Given the description of an element on the screen output the (x, y) to click on. 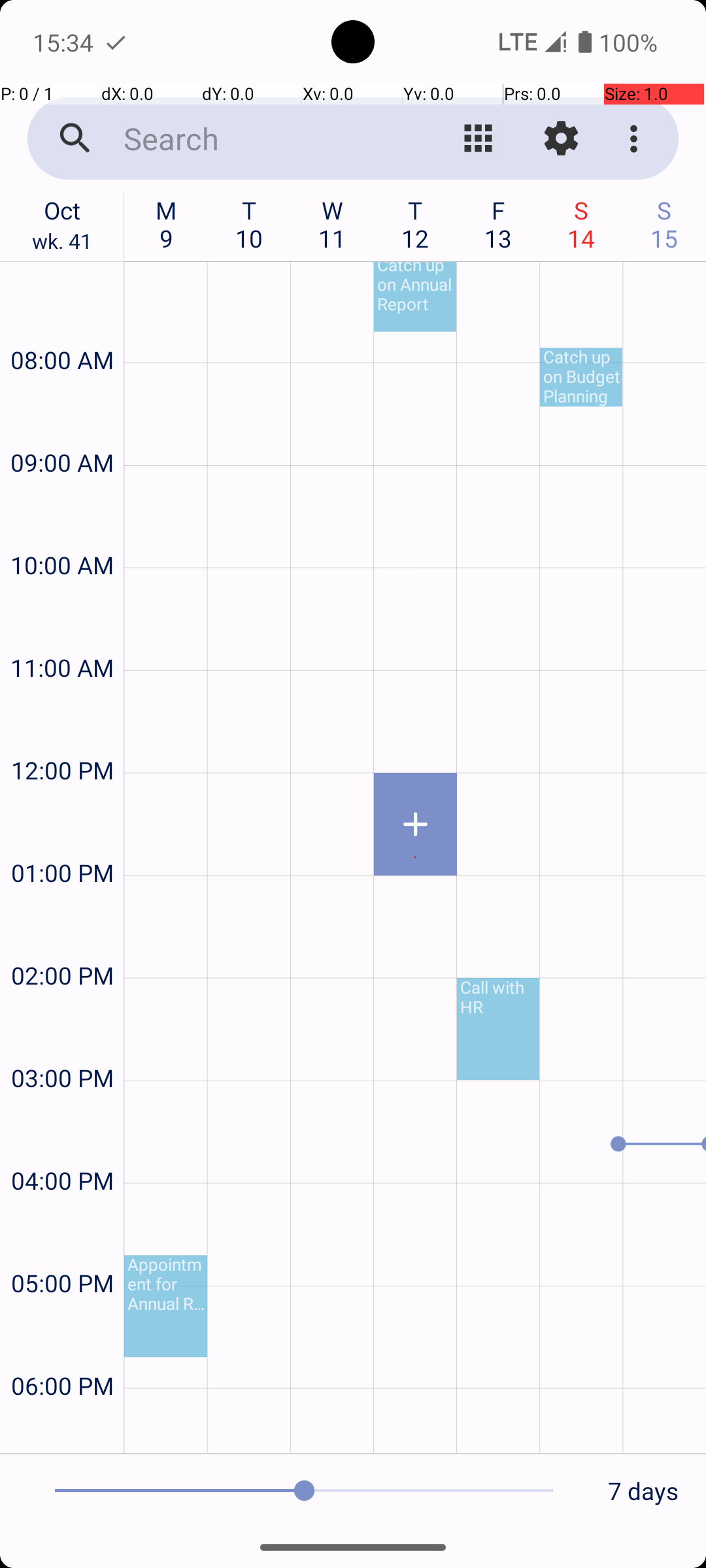
03:00 PM Element type: android.widget.TextView (62, 1042)
05:00 PM Element type: android.widget.TextView (62, 1247)
06:00 PM Element type: android.widget.TextView (62, 1350)
07:00 PM Element type: android.widget.TextView (62, 1428)
